Given the description of an element on the screen output the (x, y) to click on. 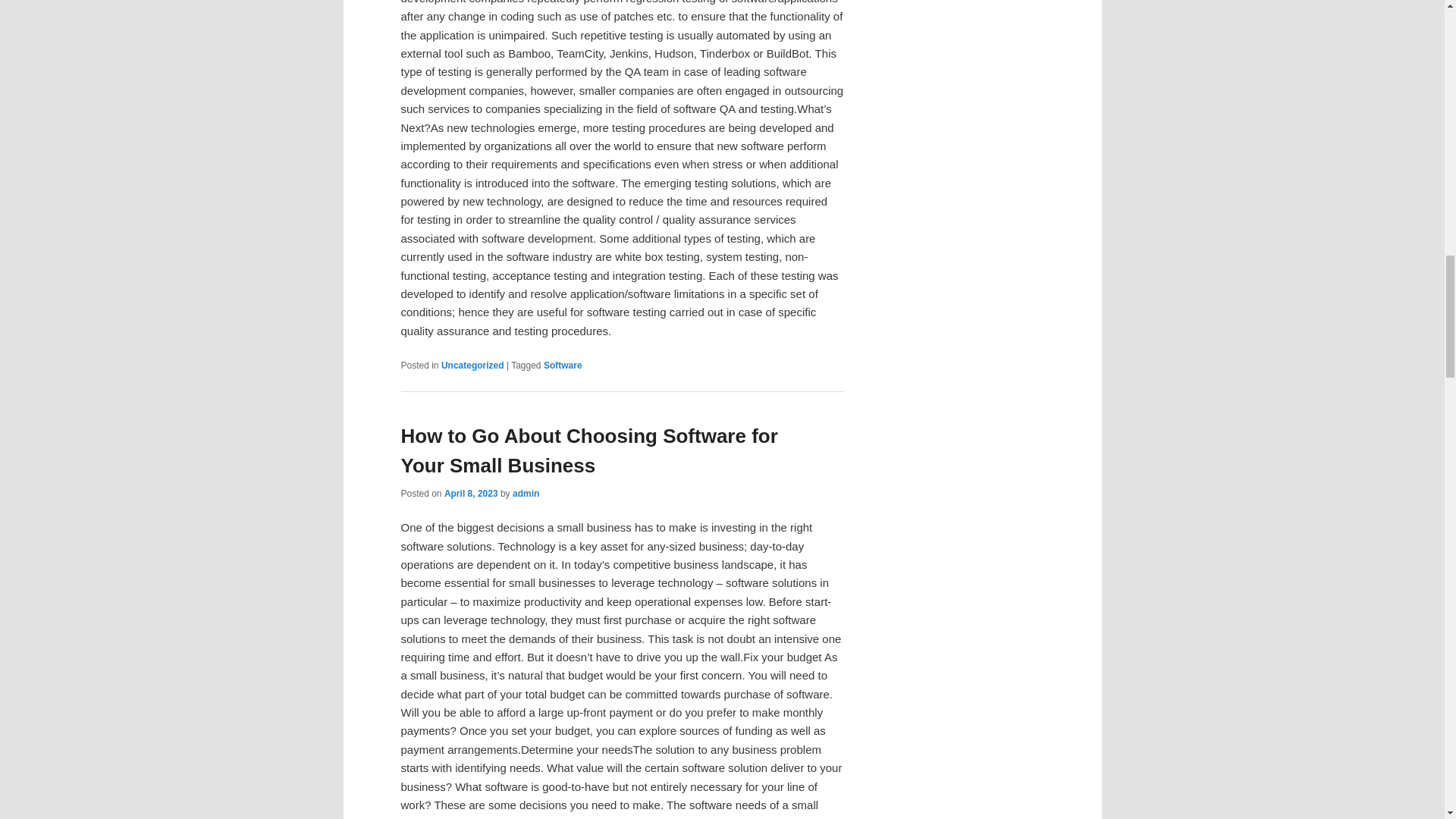
View all posts in Uncategorized (472, 365)
Uncategorized (472, 365)
How to Go About Choosing Software for Your Small Business (588, 450)
8:34 pm (470, 493)
admin (525, 493)
April 8, 2023 (470, 493)
Software (562, 365)
View all posts by admin (525, 493)
